Given the description of an element on the screen output the (x, y) to click on. 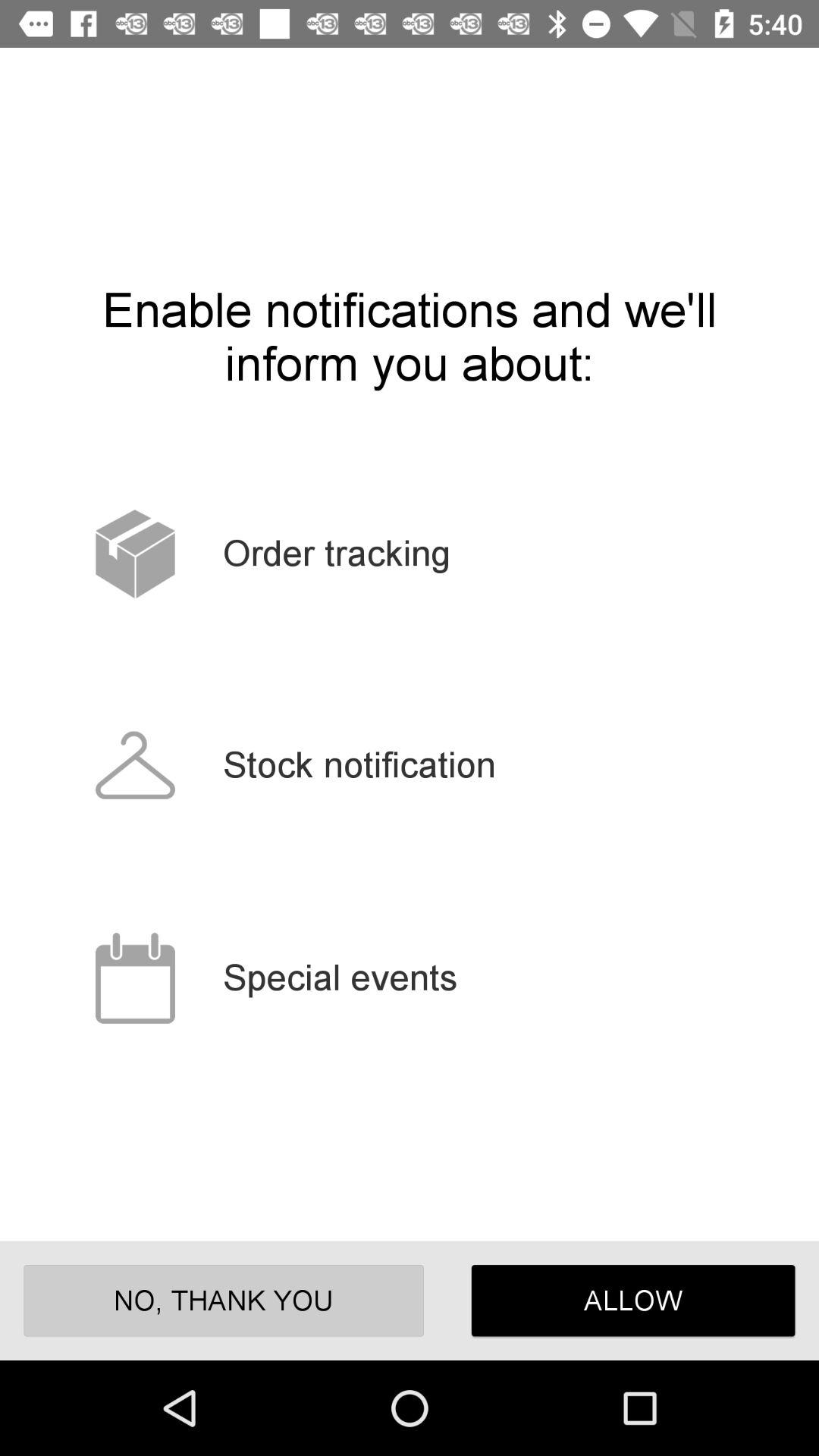
open the no, thank you item (223, 1300)
